Given the description of an element on the screen output the (x, y) to click on. 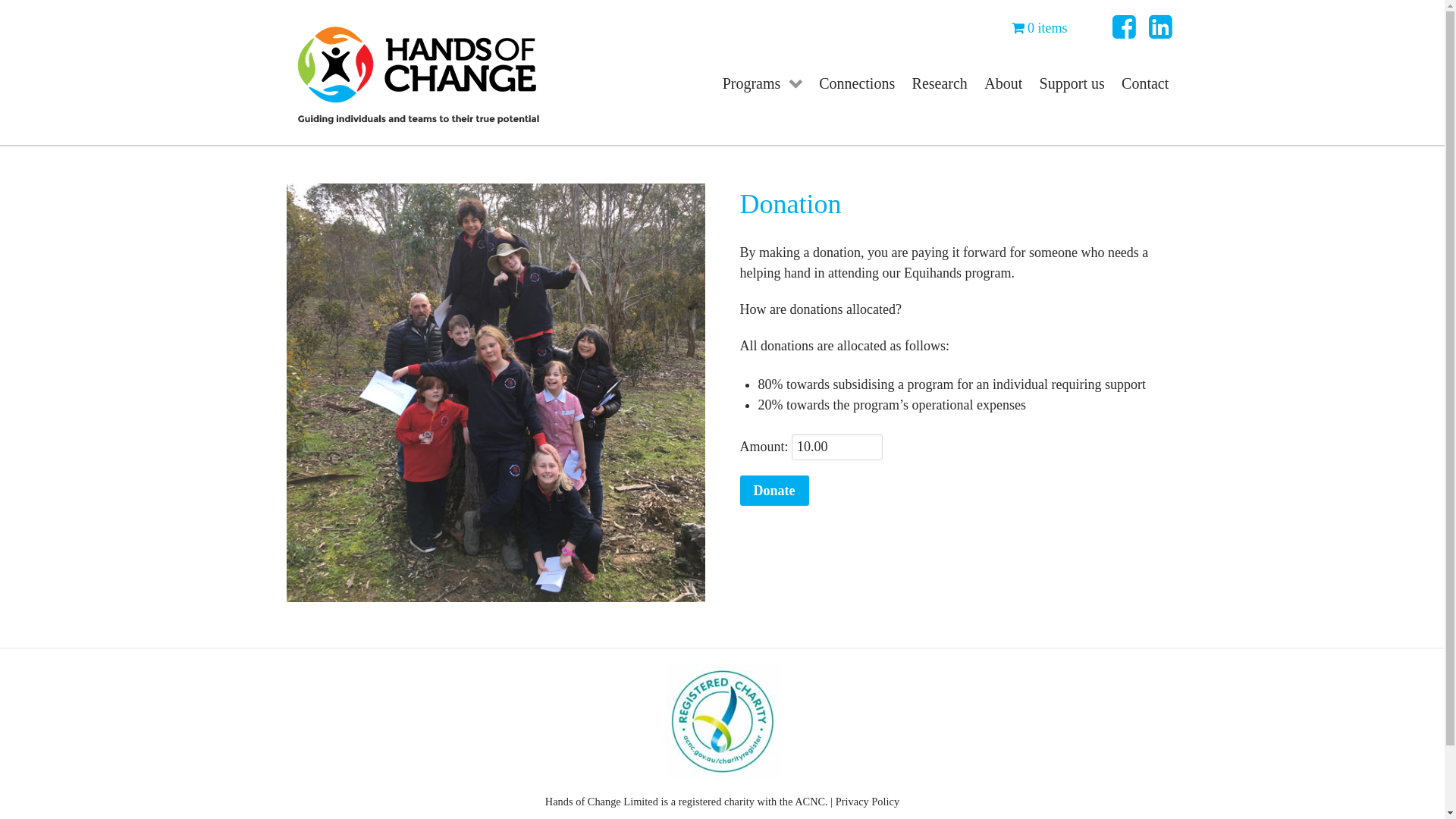
About Element type: text (1002, 81)
0 items Element type: text (1039, 27)
Contact Element type: text (1145, 81)
Programs Element type: text (761, 81)
donate Element type: hover (495, 392)
Privacy Policy Element type: text (867, 801)
Connections Element type: text (856, 81)
Support us Element type: text (1071, 81)
Donate Element type: text (774, 490)
Research Element type: text (939, 81)
